Given the description of an element on the screen output the (x, y) to click on. 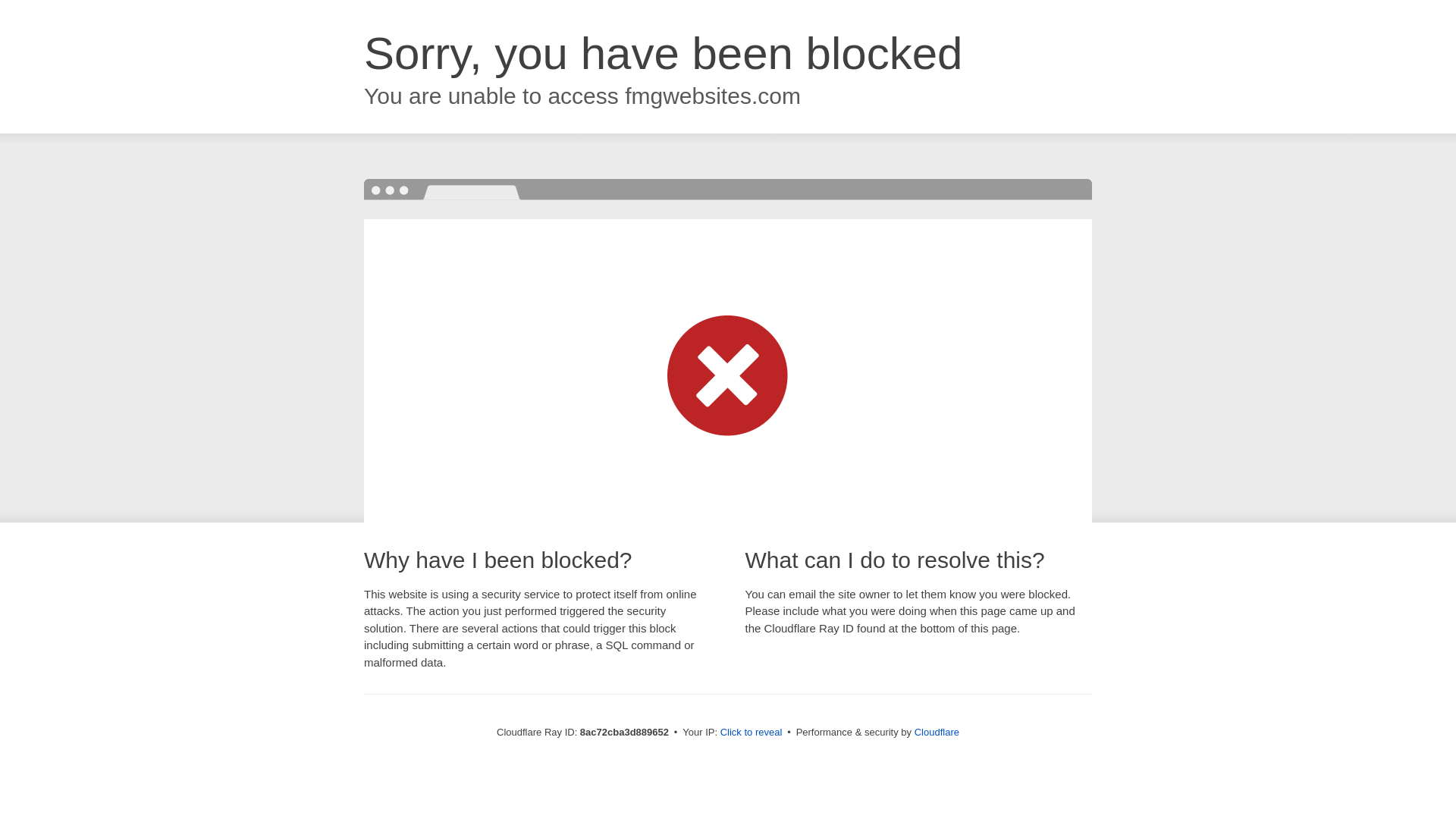
Click to reveal (751, 732)
Cloudflare (936, 731)
